Given the description of an element on the screen output the (x, y) to click on. 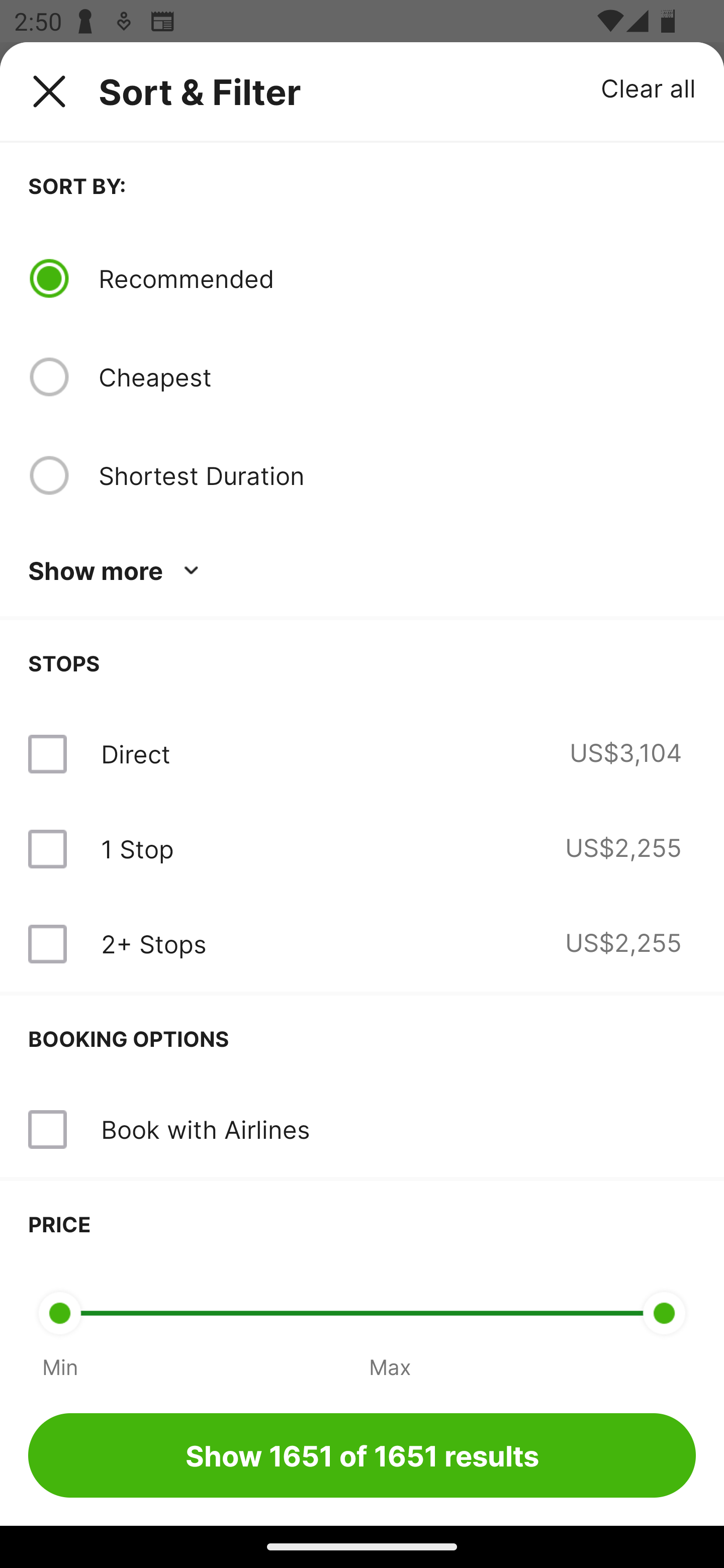
Clear all (648, 87)
Recommended  (396, 278)
Cheapest (396, 377)
Shortest Duration (396, 474)
Show more (116, 570)
Direct US$3,104 (362, 754)
Direct (135, 753)
1 Stop US$2,255 (362, 848)
1 Stop (136, 849)
2+ Stops US$2,255 (362, 943)
2+ Stops (153, 943)
Book with Airlines (362, 1129)
Book with Airlines (204, 1128)
Show 1651 of 1651 results (361, 1454)
